Given the description of an element on the screen output the (x, y) to click on. 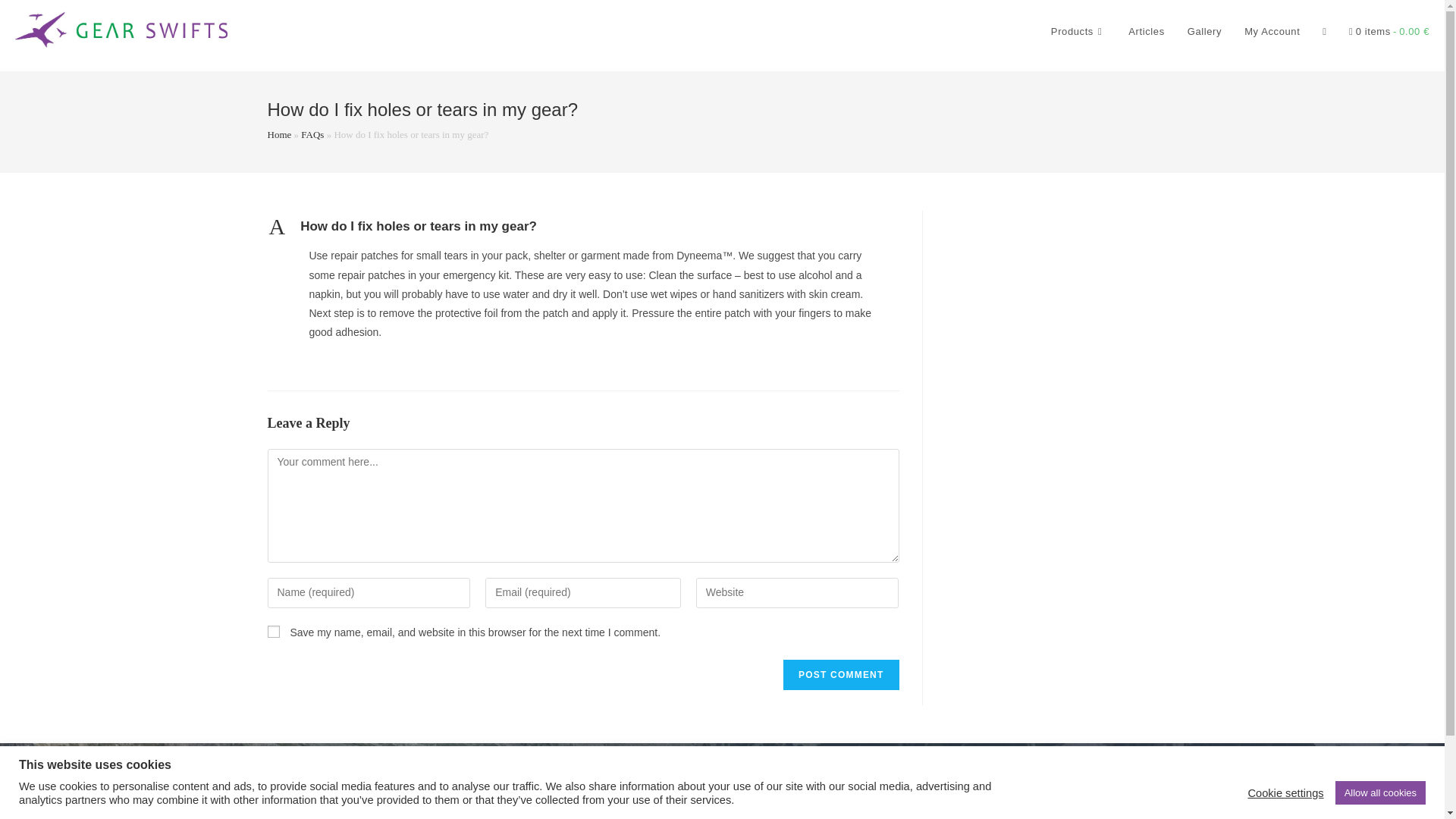
Start shopping (1389, 31)
yes (272, 631)
Products (1077, 31)
Post Comment (840, 675)
